Given the description of an element on the screen output the (x, y) to click on. 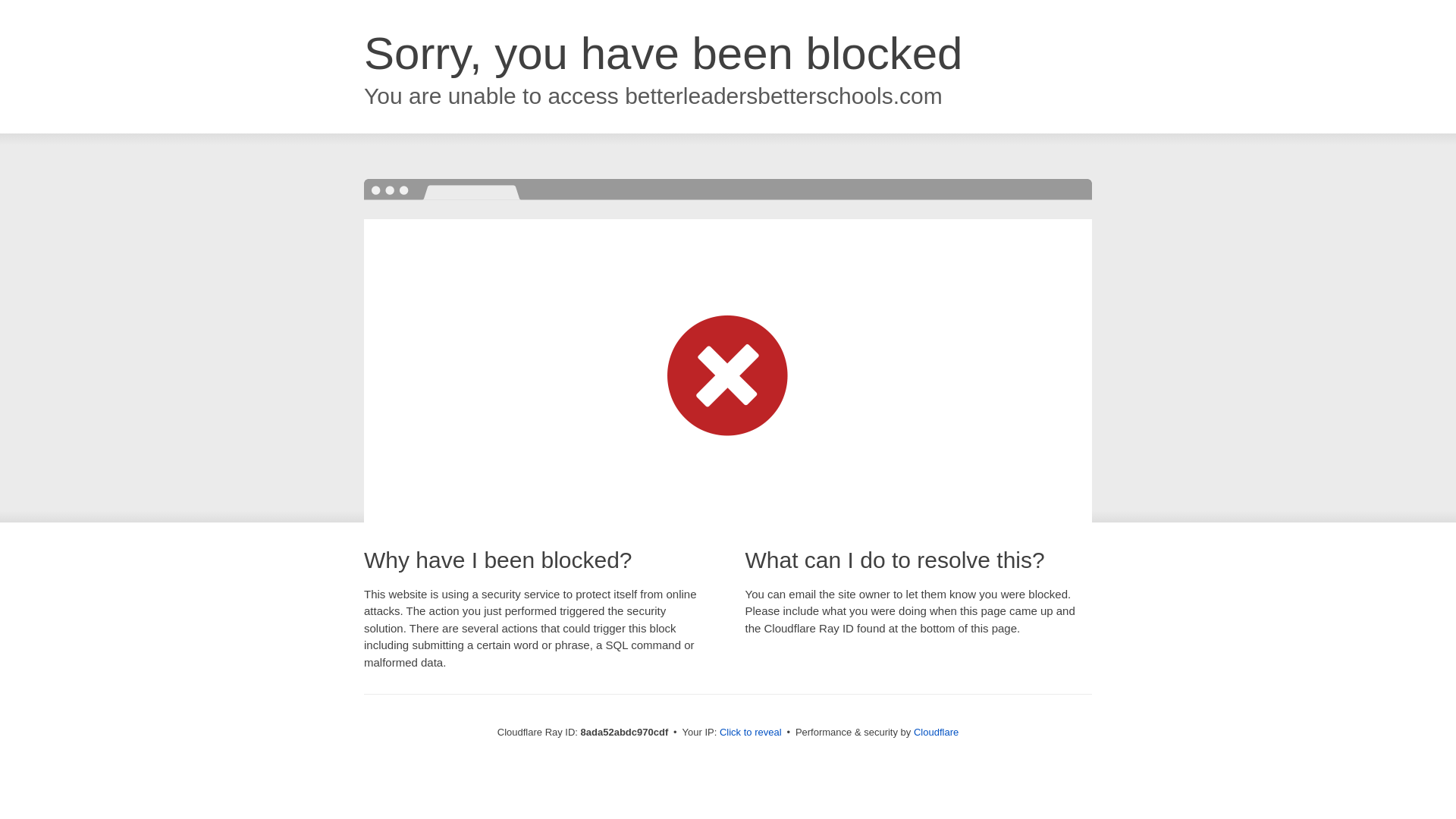
Cloudflare (936, 731)
Click to reveal (750, 732)
